Given the description of an element on the screen output the (x, y) to click on. 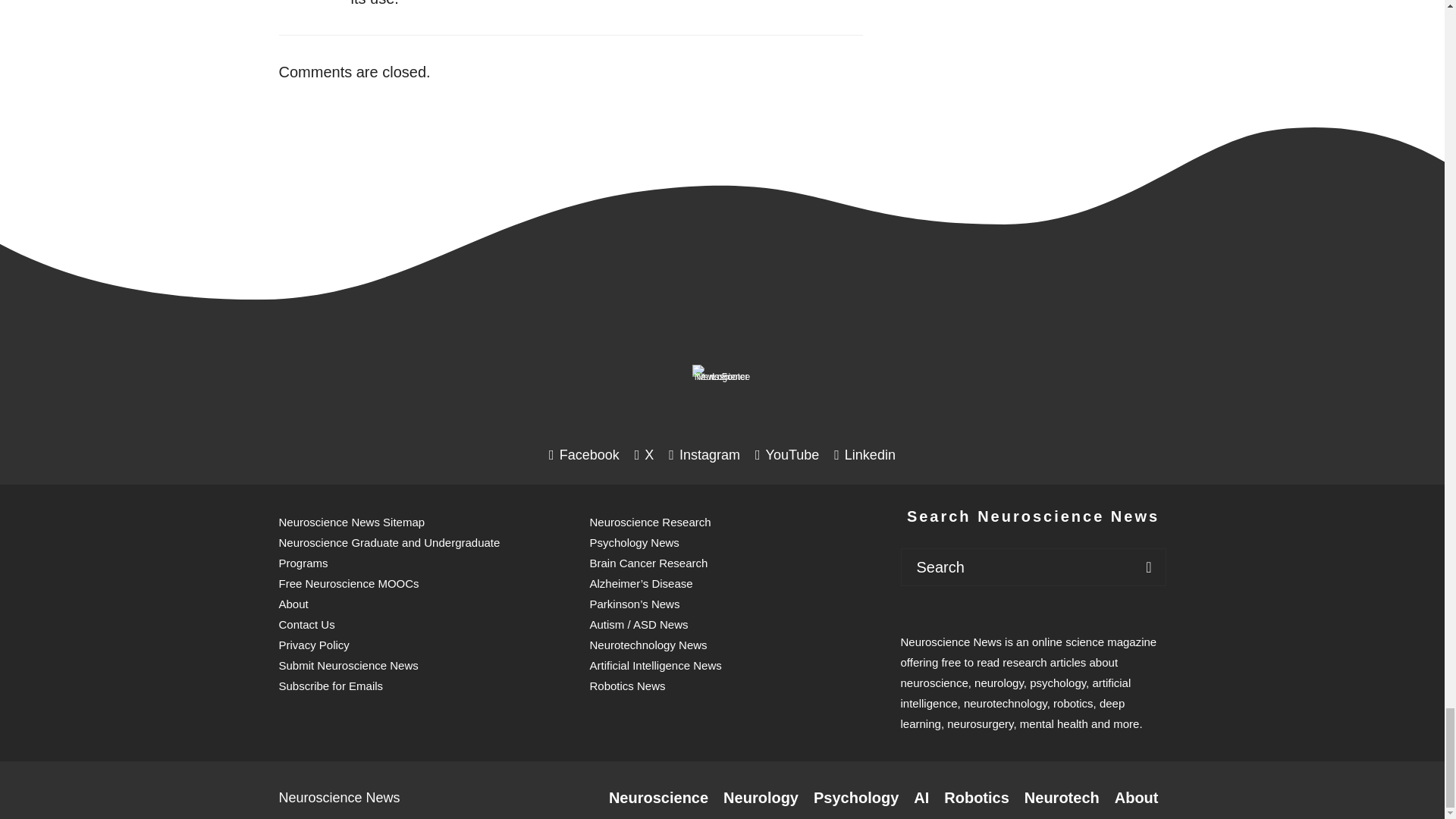
Psychology Research Articles (855, 797)
Neuroscience Research (657, 797)
Neurology Research Articles (760, 797)
